Given the description of an element on the screen output the (x, y) to click on. 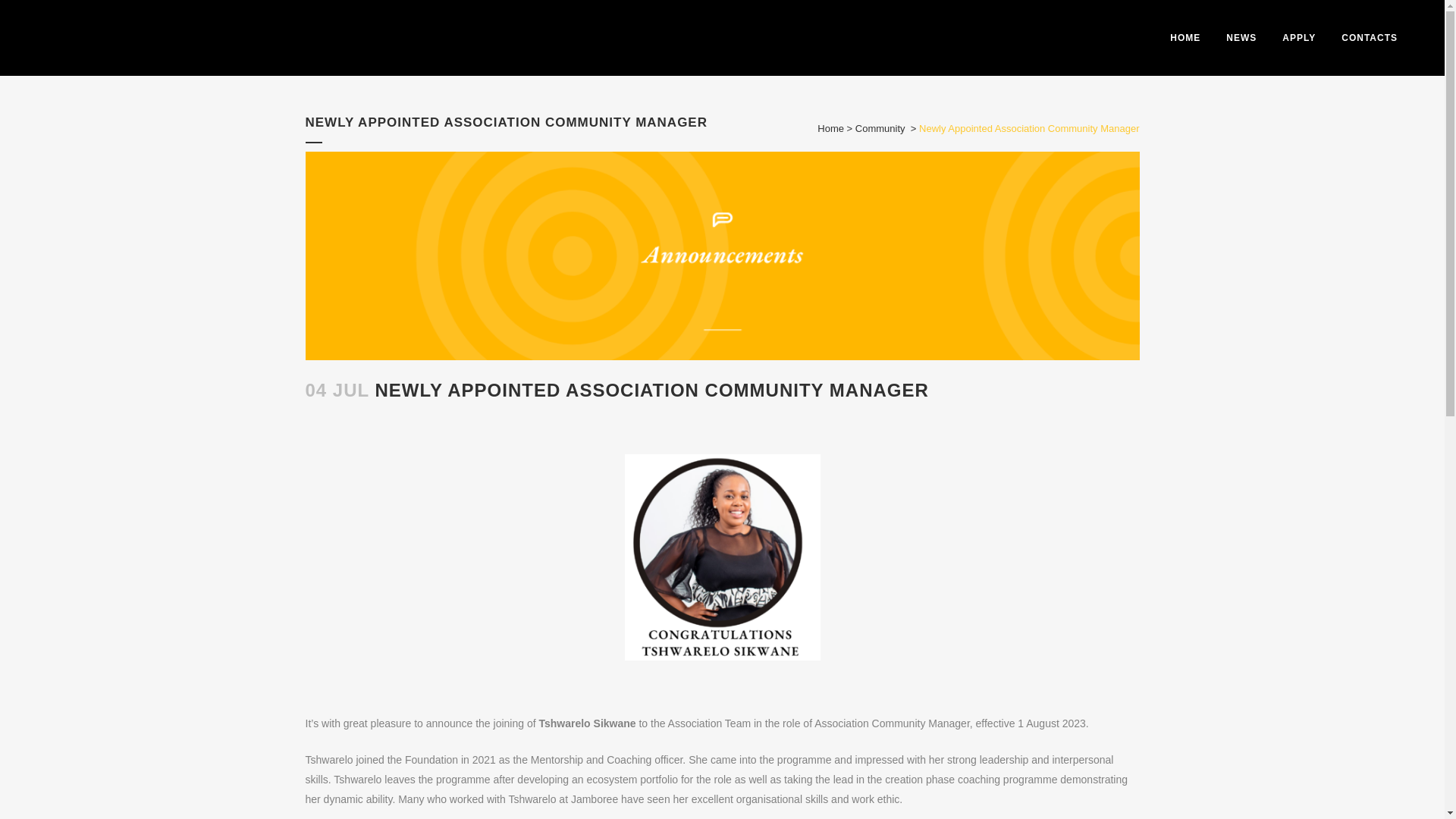
Home (830, 128)
CONTACTS (1368, 38)
Community (880, 128)
